Given the description of an element on the screen output the (x, y) to click on. 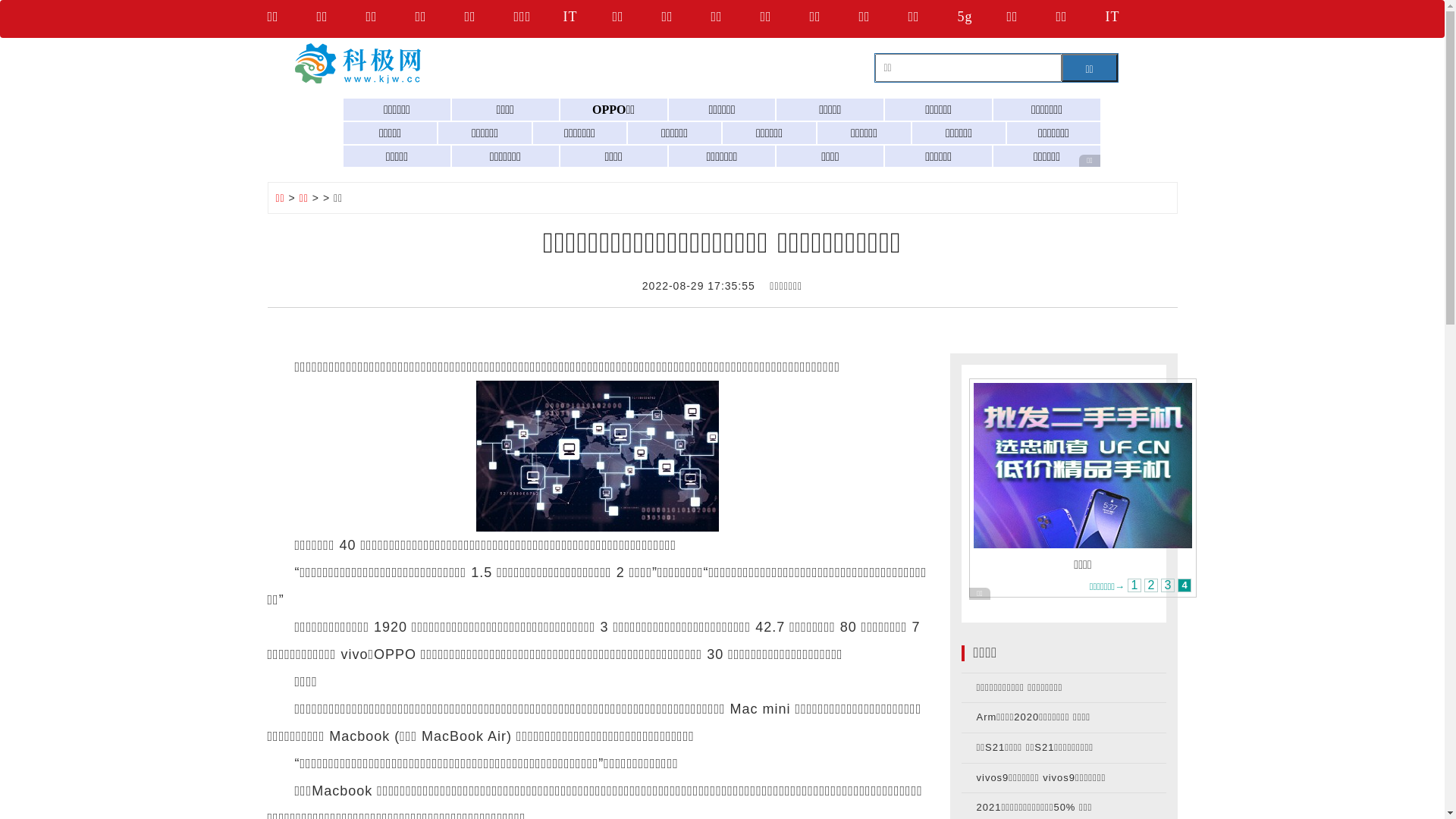
5g Element type: text (981, 18)
IT Element type: text (586, 18)
IT Element type: text (1129, 18)
